Given the description of an element on the screen output the (x, y) to click on. 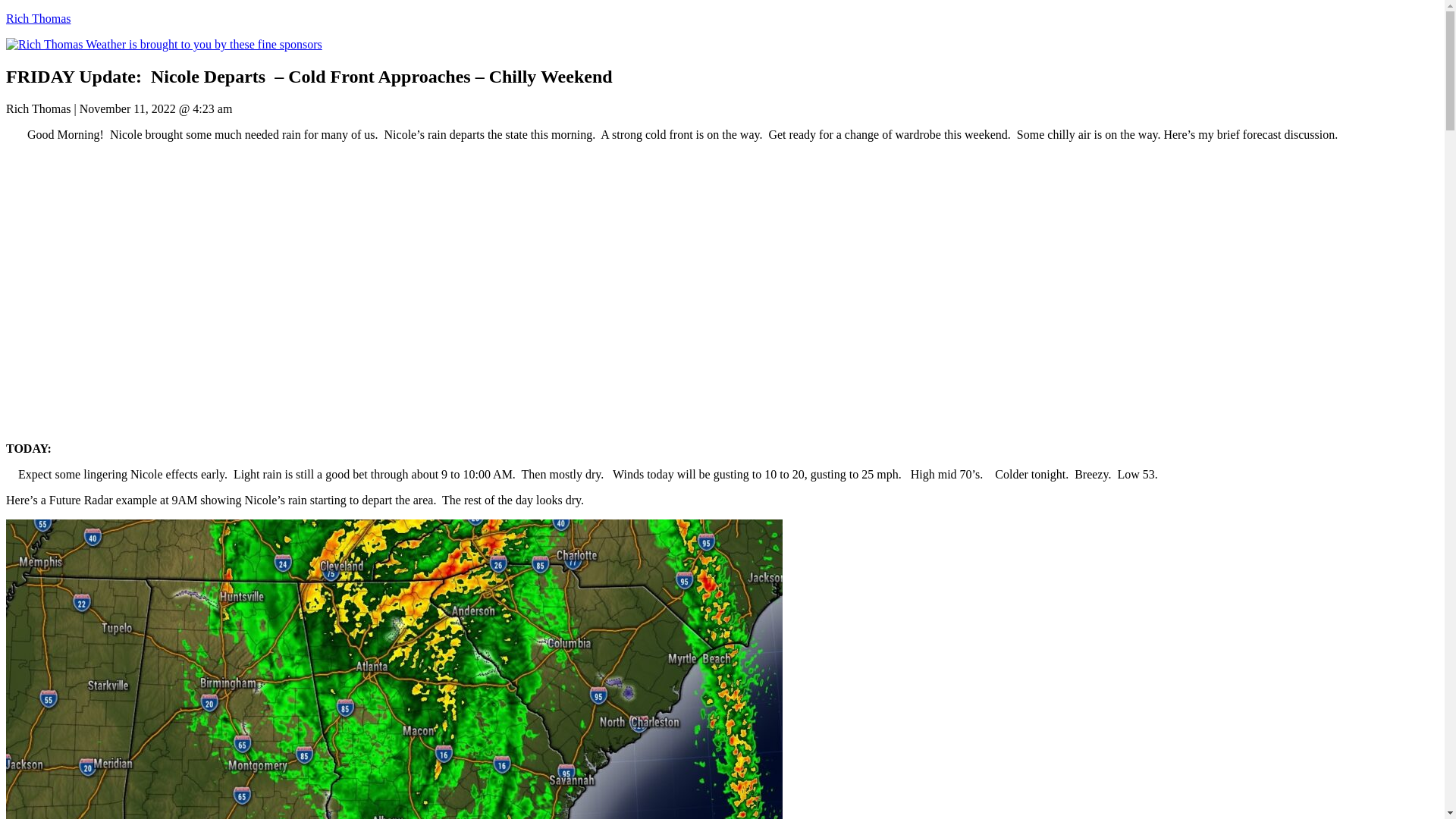
Rich Thomas (37, 18)
